Given the description of an element on the screen output the (x, y) to click on. 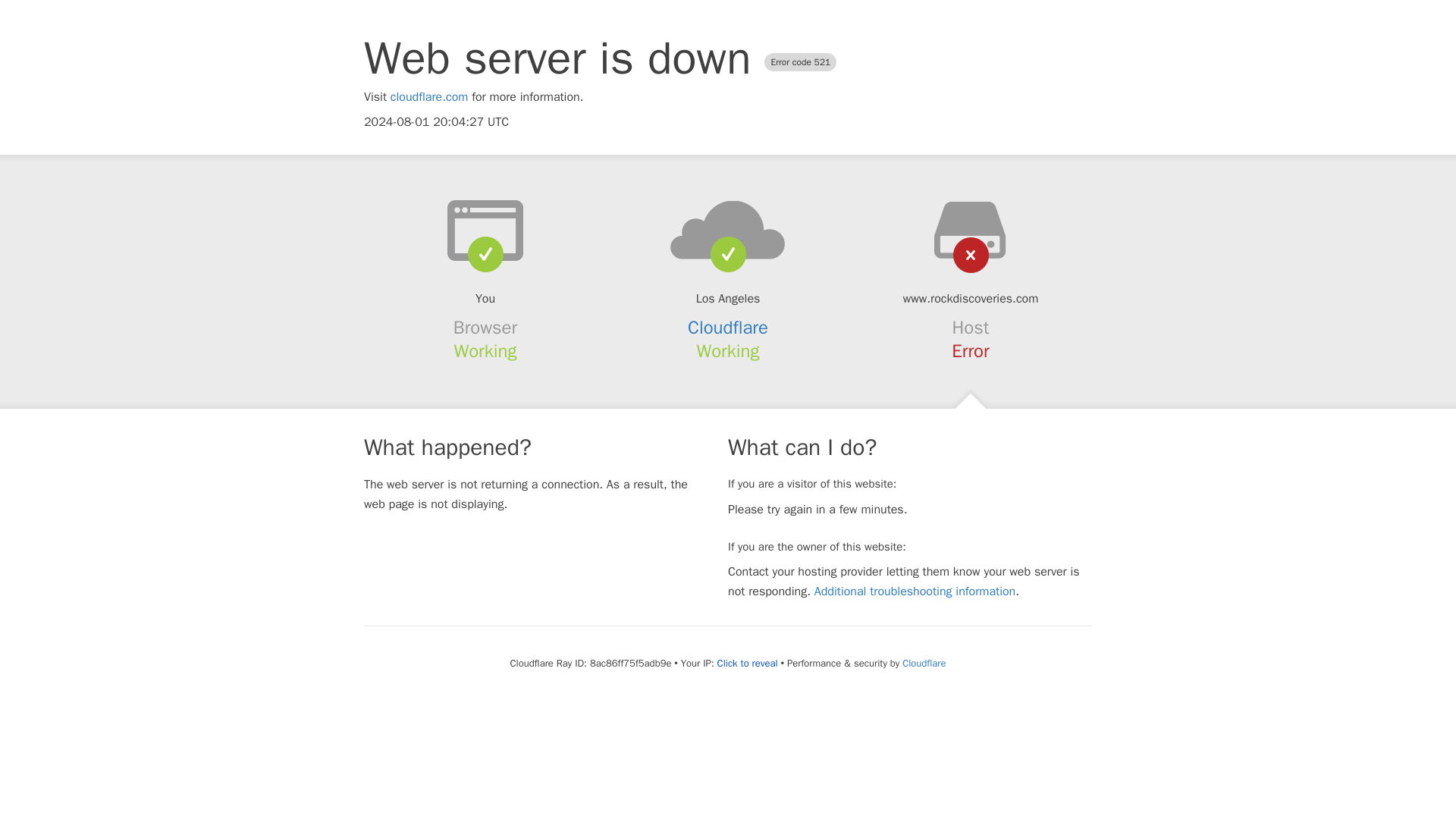
Cloudflare (923, 662)
Additional troubleshooting information (913, 590)
Cloudflare (727, 327)
Click to reveal (747, 663)
cloudflare.com (429, 96)
